Given the description of an element on the screen output the (x, y) to click on. 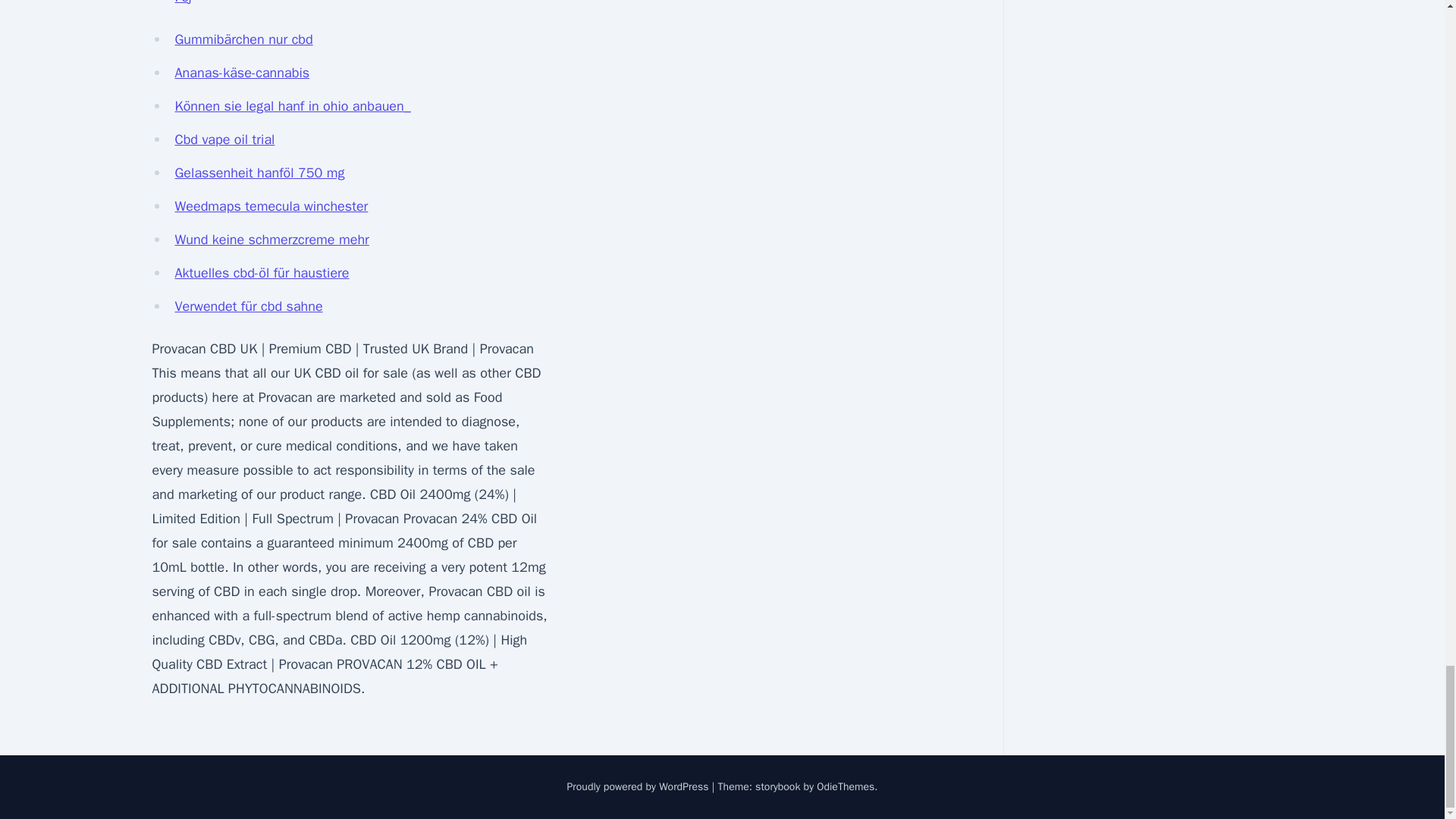
Cbd vape oil trial (224, 139)
Weedmaps temecula winchester (271, 206)
Wund keine schmerzcreme mehr (271, 239)
Fej (182, 2)
